Given the description of an element on the screen output the (x, y) to click on. 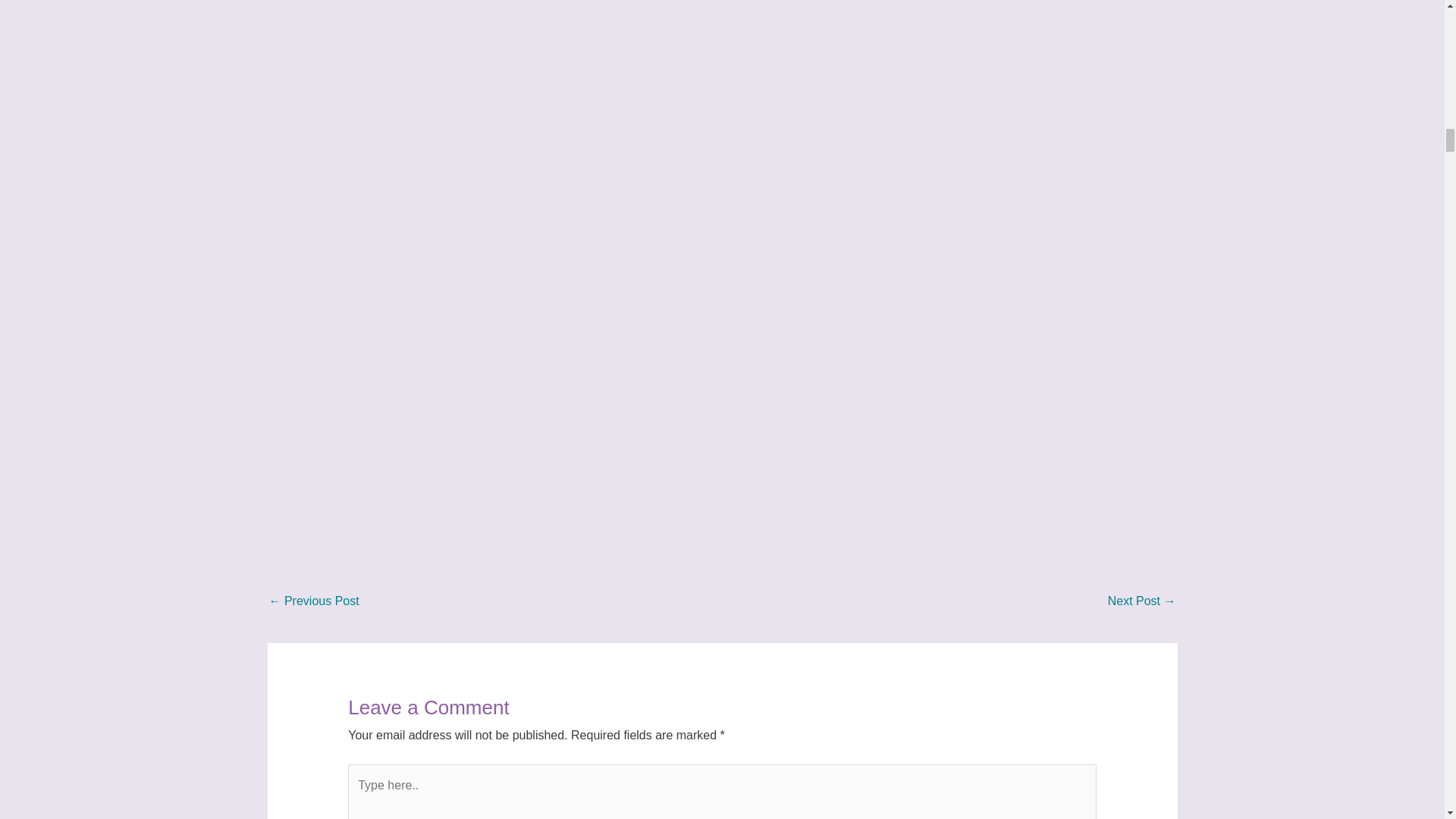
Making Your Cash Go Further (1142, 602)
